Given the description of an element on the screen output the (x, y) to click on. 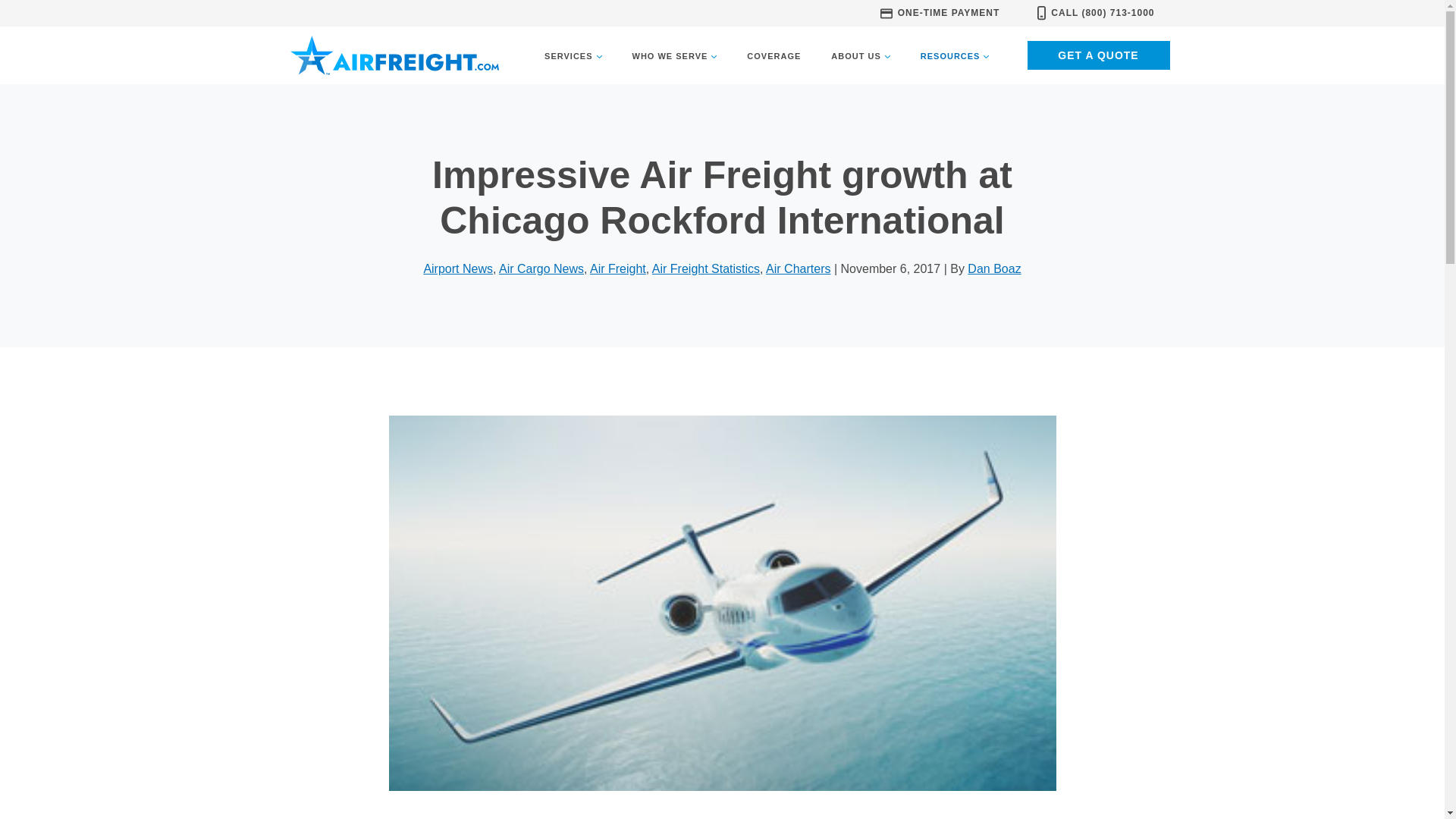
Air Freight Logo (394, 55)
Airport News (458, 268)
COVERAGE (773, 56)
ABOUT US (860, 56)
ONE-TIME PAYMENT (940, 12)
WHO WE SERVE (674, 56)
RESOURCES (955, 56)
Air Cargo News (541, 268)
SERVICES (572, 56)
GET A QUOTE (1097, 54)
